Given the description of an element on the screen output the (x, y) to click on. 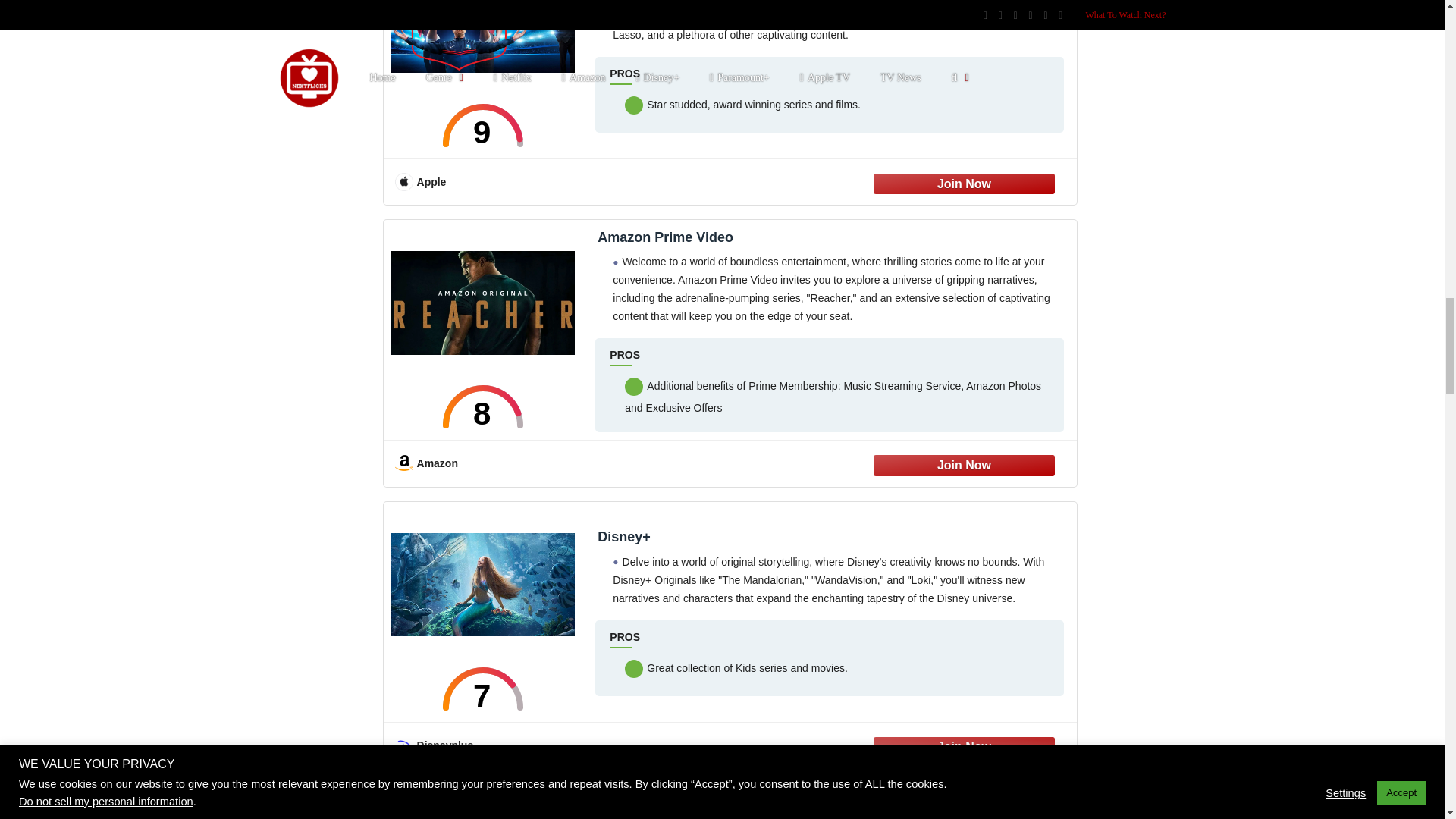
9 (483, 125)
7 (483, 688)
8 (483, 406)
